Given the description of an element on the screen output the (x, y) to click on. 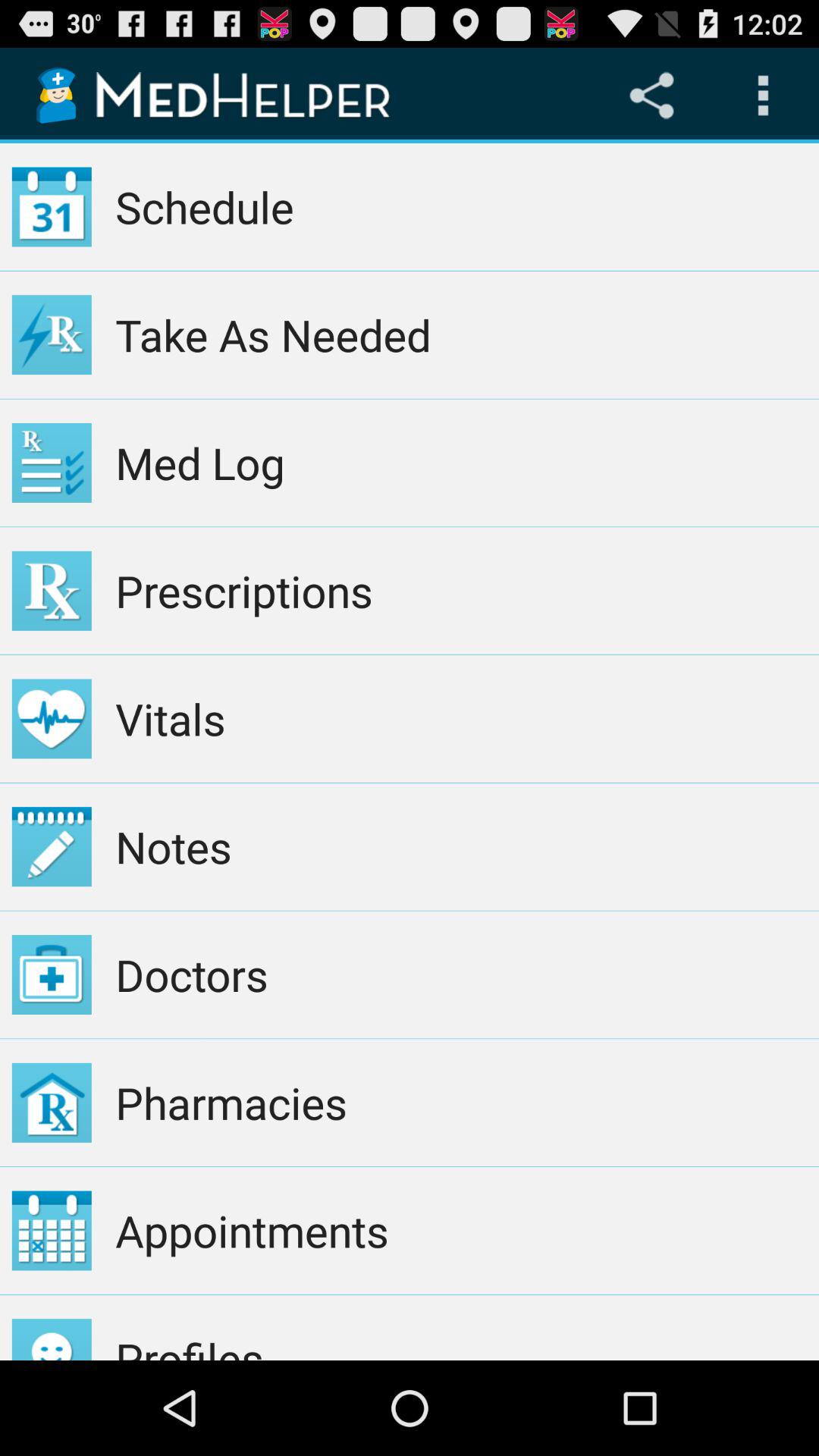
open the icon above the schedule app (763, 95)
